Given the description of an element on the screen output the (x, y) to click on. 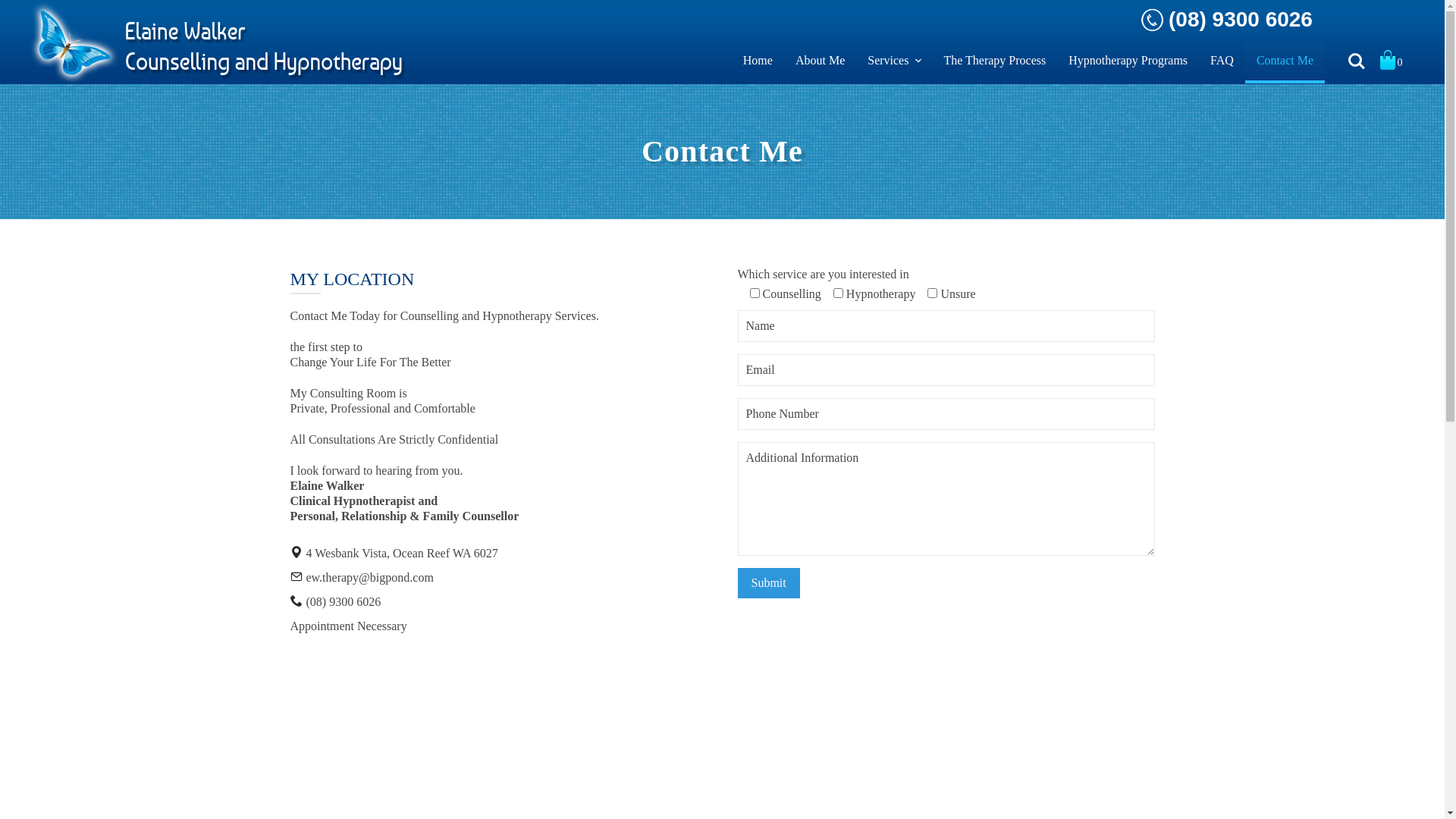
(08) 9300 6026 Element type: text (1228, 19)
About Me Element type: text (820, 60)
Cart 0 Element type: text (1395, 61)
Elaine Walker Counselling and Hypnotherapy Element type: hover (218, 42)
The Therapy Process Element type: text (994, 60)
Hypnotherapy Programs Element type: text (1127, 60)
Services Element type: text (893, 60)
FAQ Element type: text (1221, 60)
Contact Me Element type: text (1284, 60)
Submit Element type: text (768, 582)
Search Element type: text (1356, 61)
Home Element type: text (757, 60)
